Given the description of an element on the screen output the (x, y) to click on. 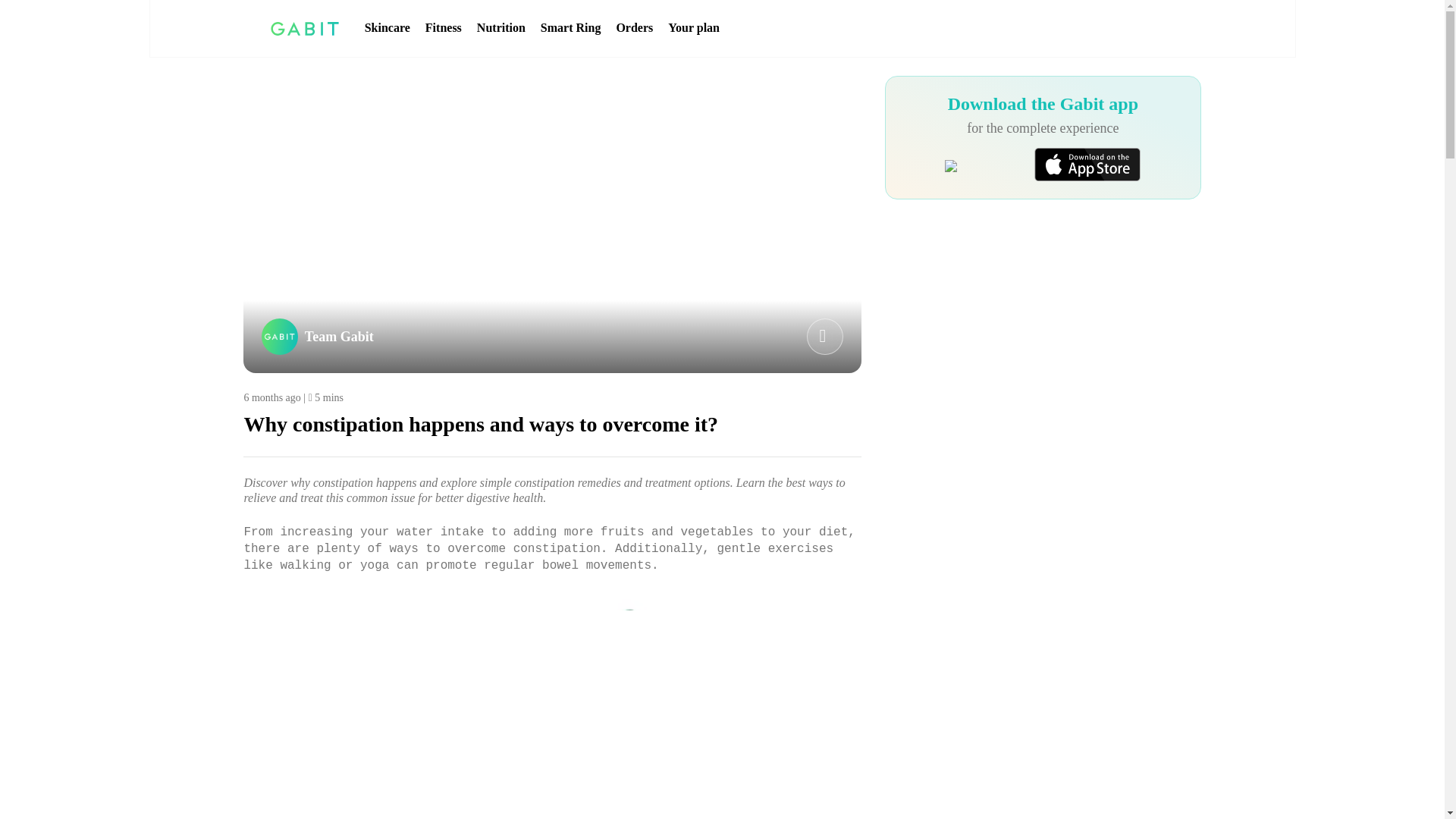
Smart Ring (570, 27)
Skincare (387, 27)
Orders (633, 27)
Fitness (443, 27)
Nutrition (501, 27)
Your plan (693, 27)
